Given the description of an element on the screen output the (x, y) to click on. 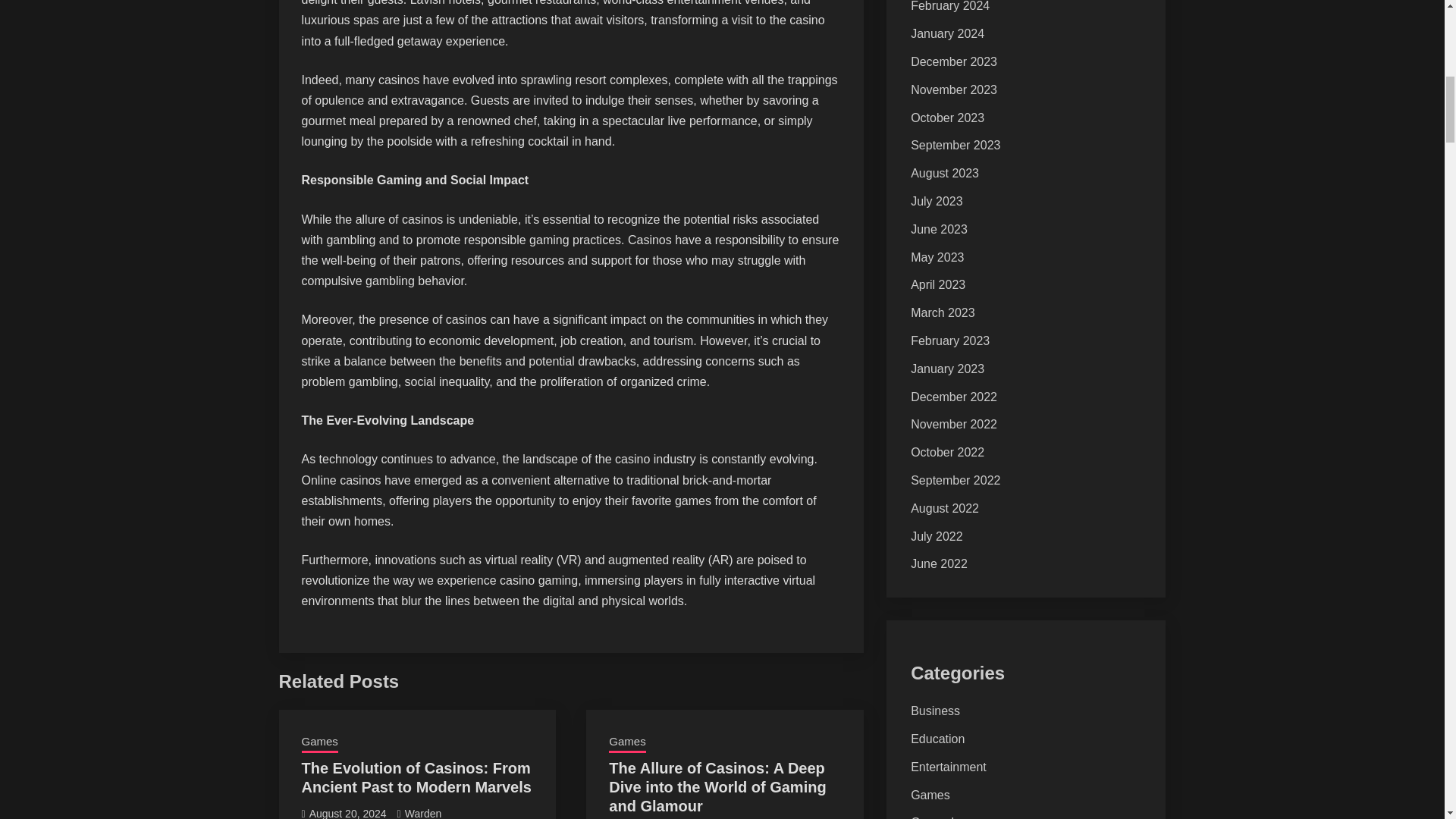
Warden (423, 813)
Games (626, 742)
August 20, 2024 (347, 813)
Games (319, 742)
